Given the description of an element on the screen output the (x, y) to click on. 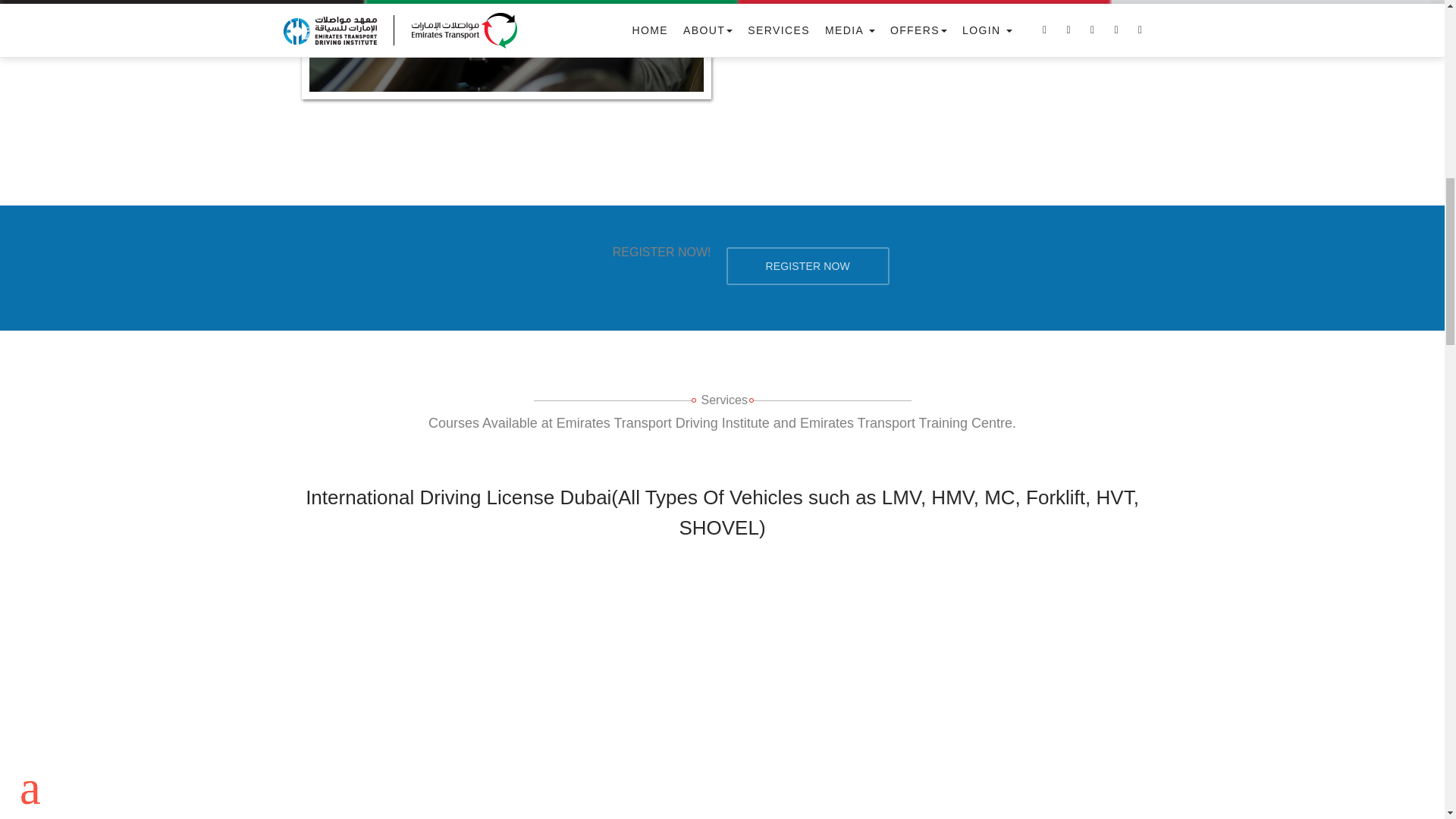
REGISTER NOW (807, 266)
